Given the description of an element on the screen output the (x, y) to click on. 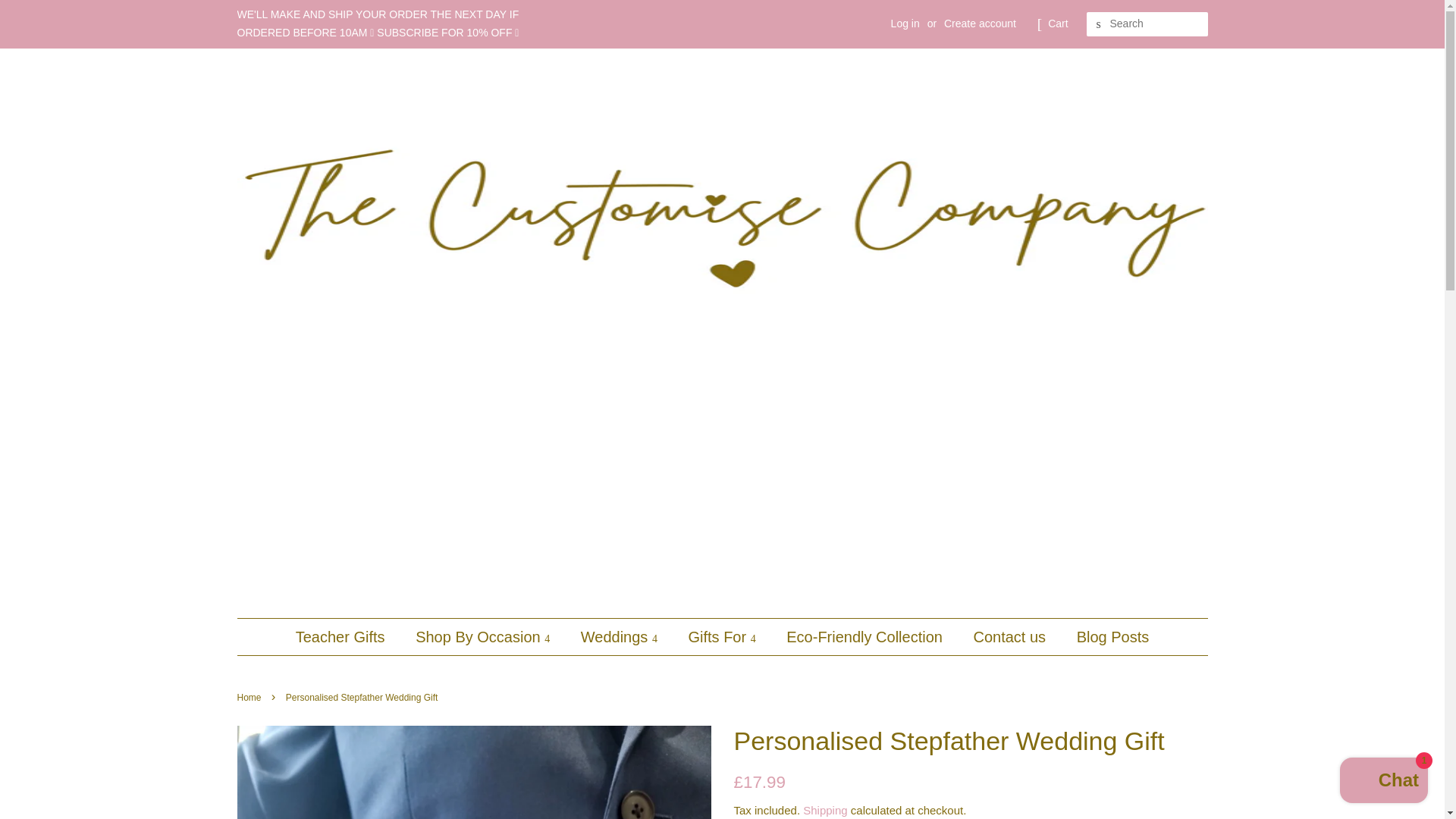
Create account (979, 23)
Log in (905, 23)
Cart (1057, 24)
Search (1097, 24)
Back to the frontpage (249, 697)
Shopify online store chat (1383, 781)
